Given the description of an element on the screen output the (x, y) to click on. 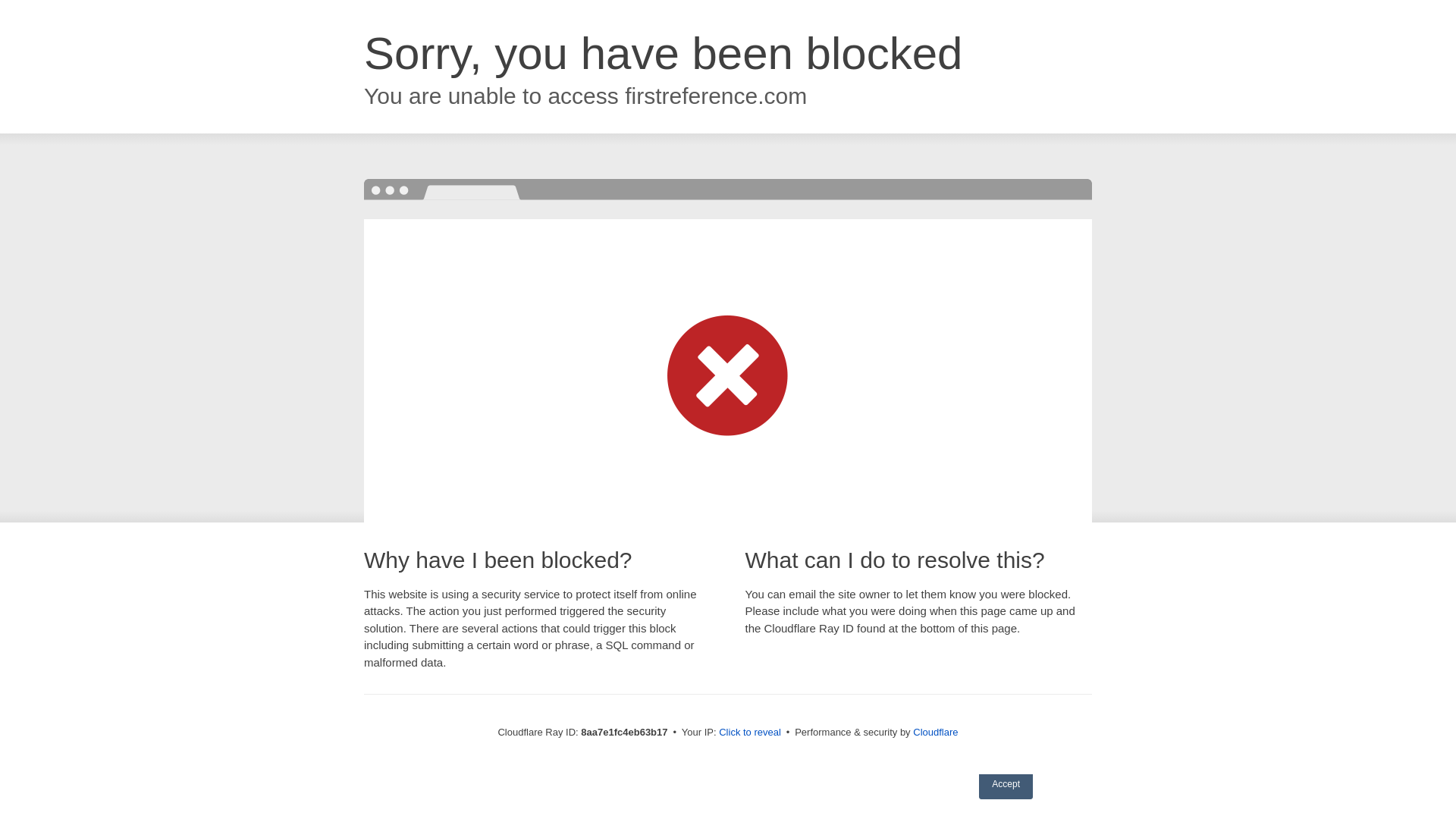
Click to reveal (749, 732)
Cloudflare (935, 731)
Privacy Policy. (842, 747)
